Given the description of an element on the screen output the (x, y) to click on. 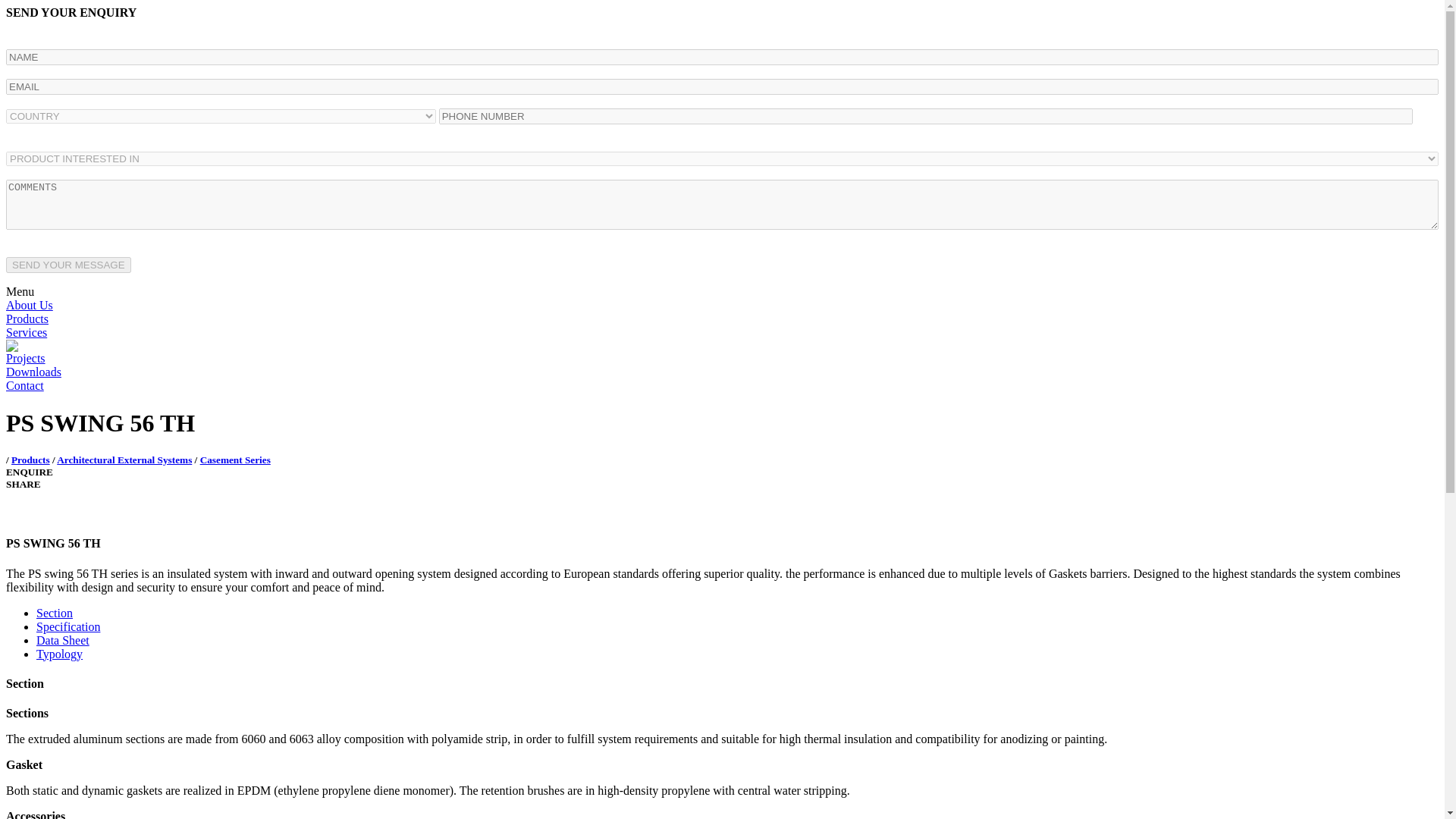
Data Sheet (62, 640)
Section (54, 612)
Specification (68, 626)
CLICK! (68, 264)
Casement Series (235, 460)
SEND YOUR MESSAGE (68, 264)
